Given the description of an element on the screen output the (x, y) to click on. 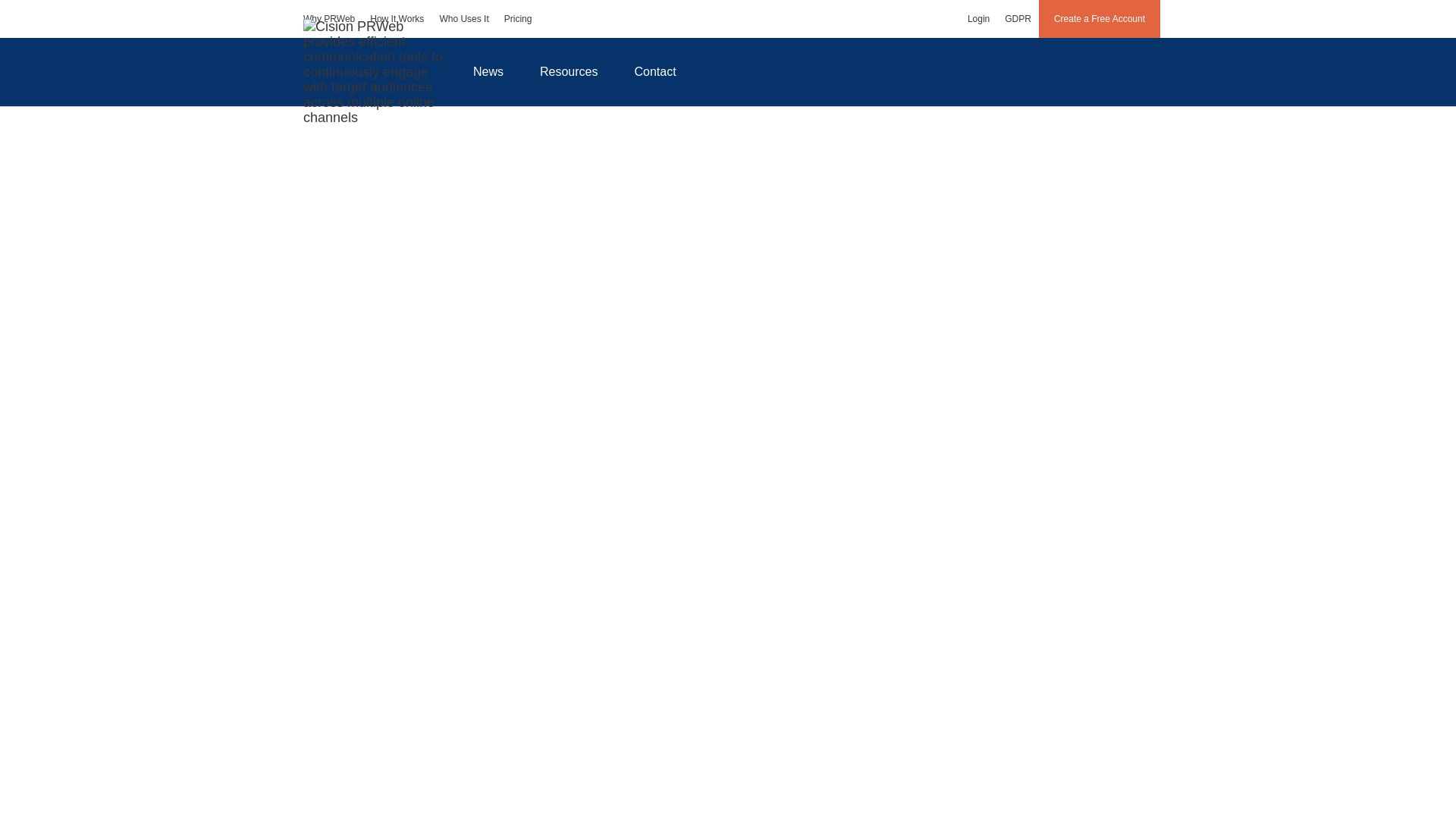
Resources (568, 71)
Contact (654, 71)
How It Works (396, 18)
Create a Free Account (1099, 18)
Login (978, 18)
Pricing (518, 18)
News (487, 71)
Who Uses It (463, 18)
GDPR (1018, 18)
Why PRWeb (328, 18)
